Given the description of an element on the screen output the (x, y) to click on. 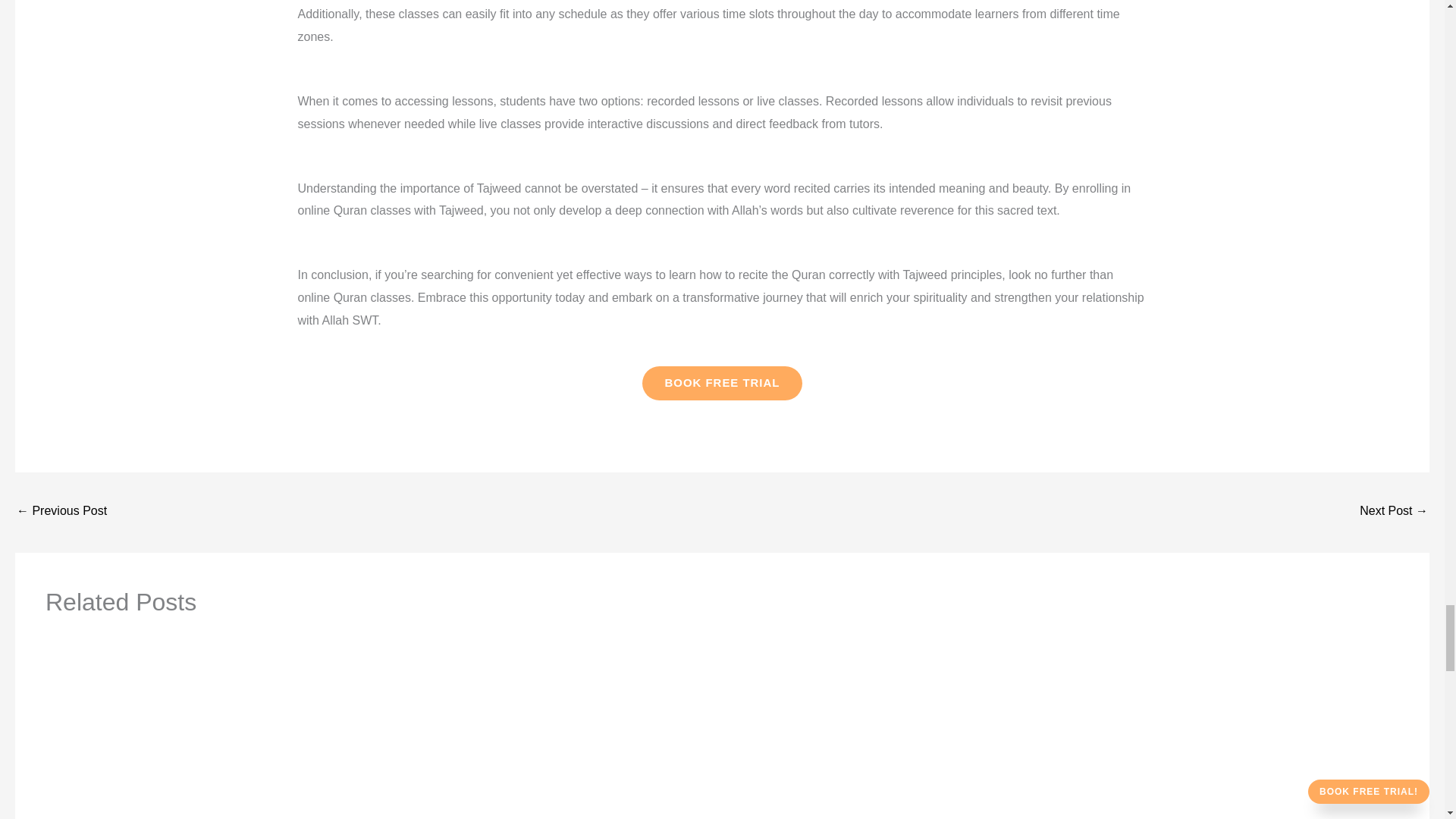
BOOK FREE TRIAL (722, 383)
